Given the description of an element on the screen output the (x, y) to click on. 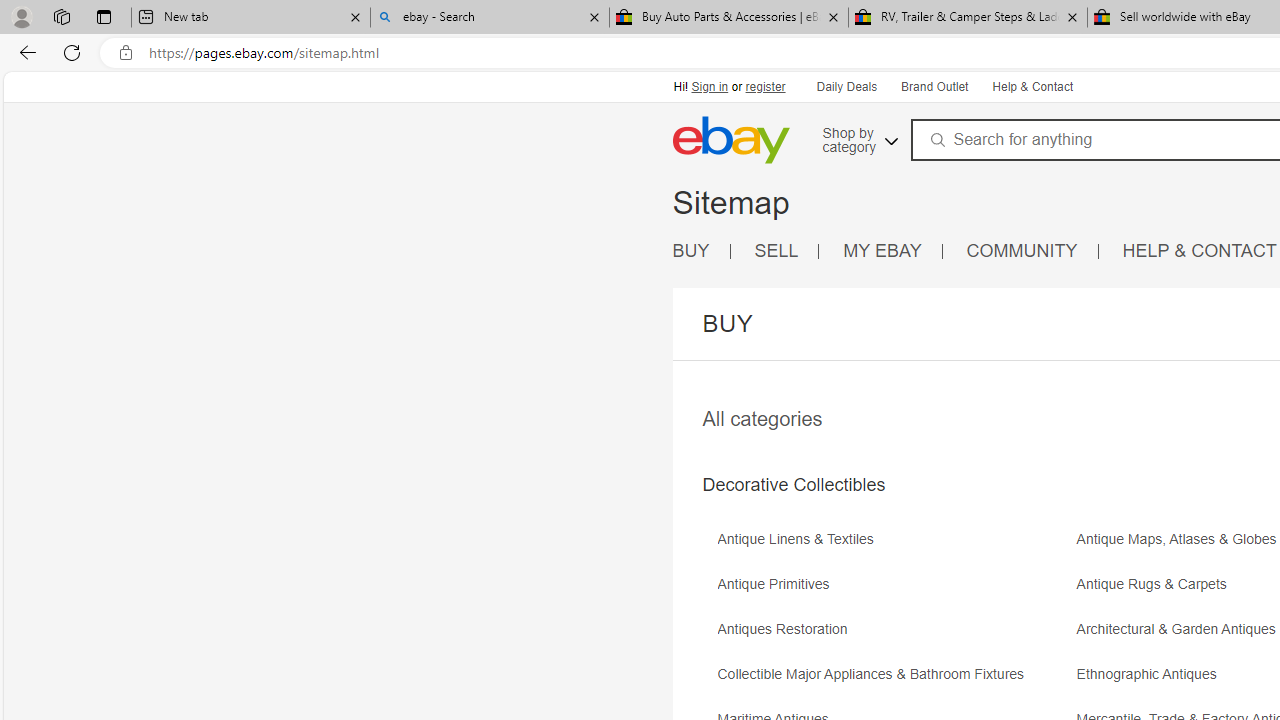
HELP & CONTACT (1199, 251)
Ethnographic Antiques (1151, 673)
Decorative Collectibles (793, 485)
Daily Deals (846, 86)
eBay Logo (730, 139)
Shop by category (857, 137)
Sign in (710, 86)
COMMUNITY (1032, 251)
Antique Linens & Textiles (800, 539)
COMMUNITY (1021, 250)
